Given the description of an element on the screen output the (x, y) to click on. 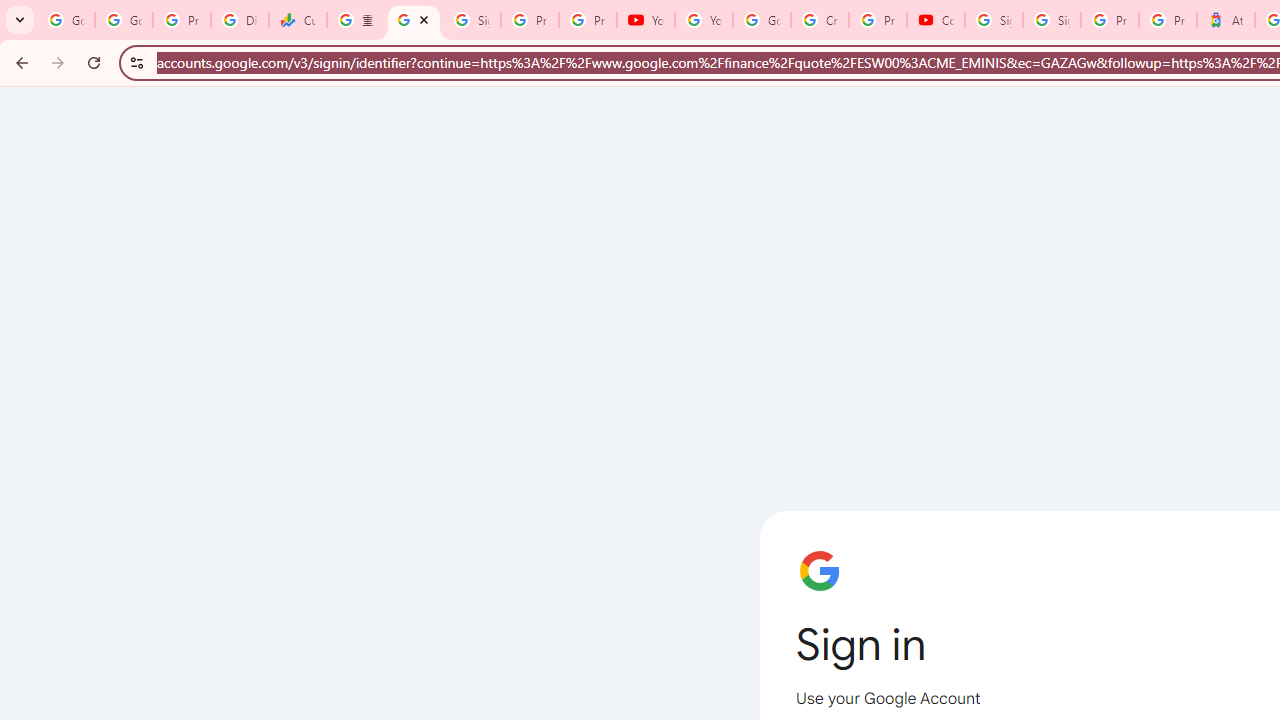
Privacy Checkup (587, 20)
Sign in - Google Accounts (993, 20)
Google Workspace Admin Community (65, 20)
Sign in - Google Accounts (413, 20)
Content Creator Programs & Opportunities - YouTube Creators (936, 20)
YouTube (645, 20)
Sign in - Google Accounts (1051, 20)
Atour Hotel - Google hotels (1225, 20)
